Given the description of an element on the screen output the (x, y) to click on. 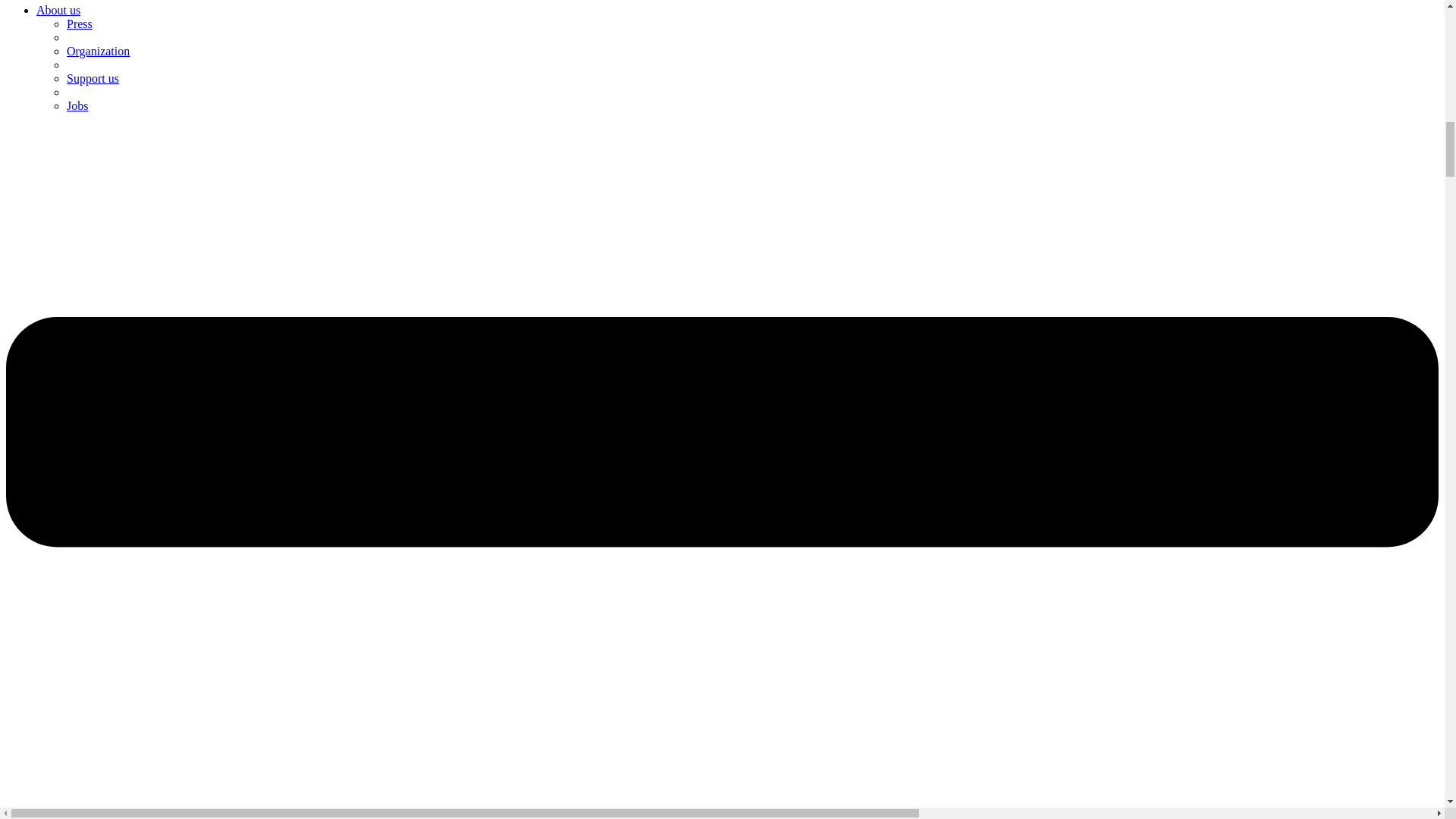
Organization (97, 51)
About us (58, 10)
Support us (92, 78)
Press (79, 23)
Jobs (76, 105)
